Given the description of an element on the screen output the (x, y) to click on. 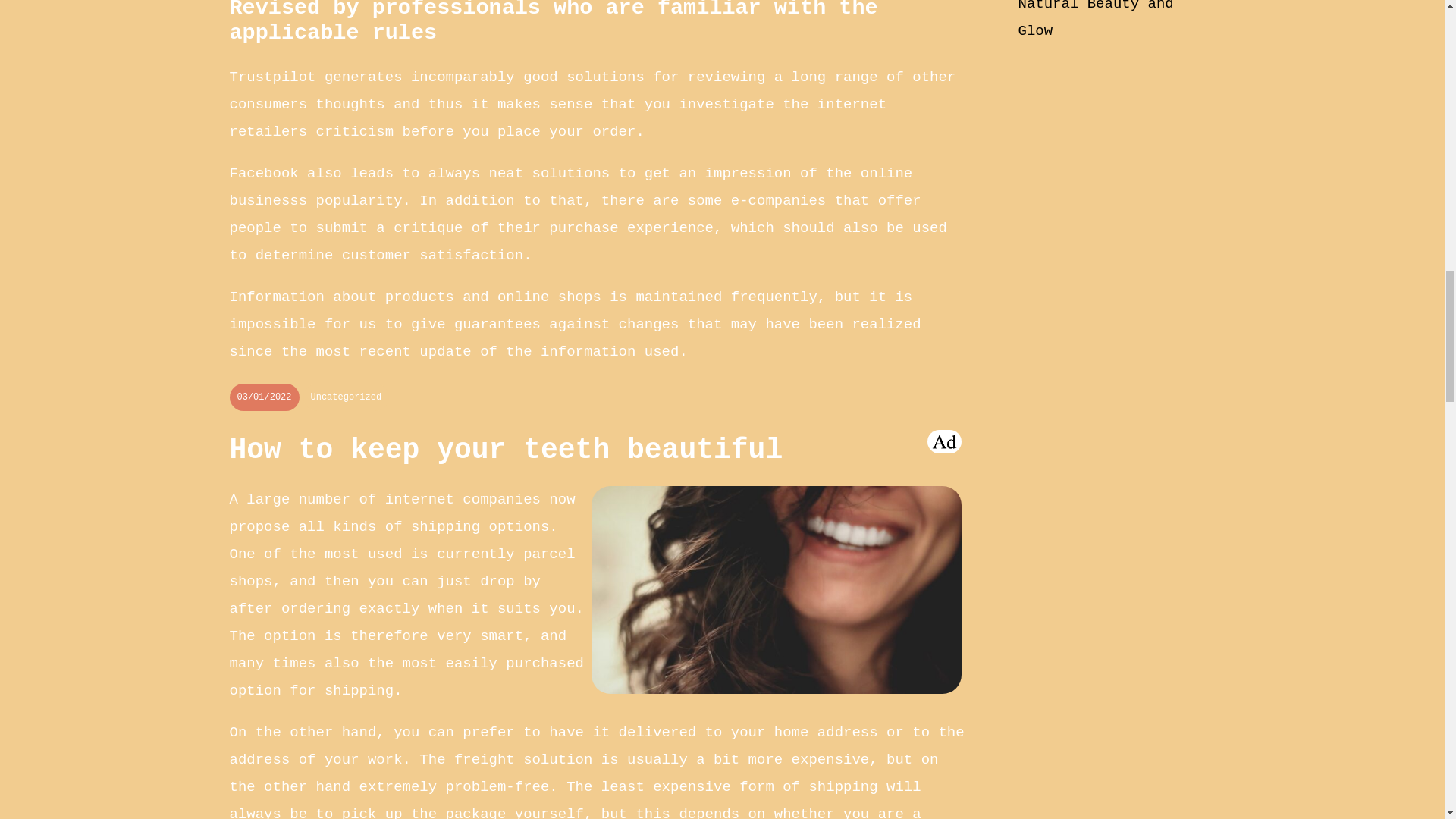
7 Tips to Achieve Natural Beauty and Glow (1095, 19)
